Given the description of an element on the screen output the (x, y) to click on. 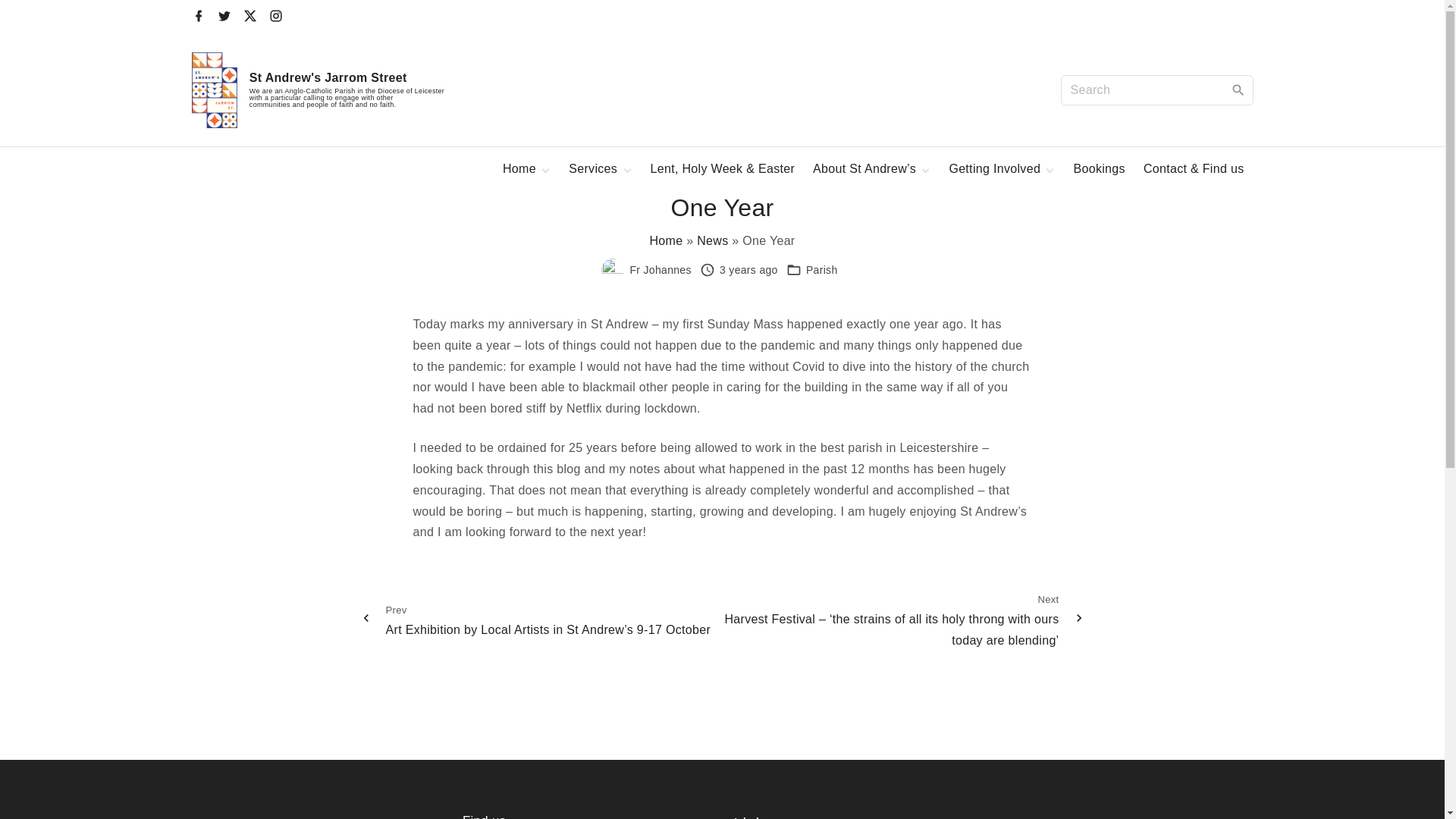
Search (1237, 89)
Home (519, 168)
Getting Involved (995, 168)
Services (593, 168)
